Given the description of an element on the screen output the (x, y) to click on. 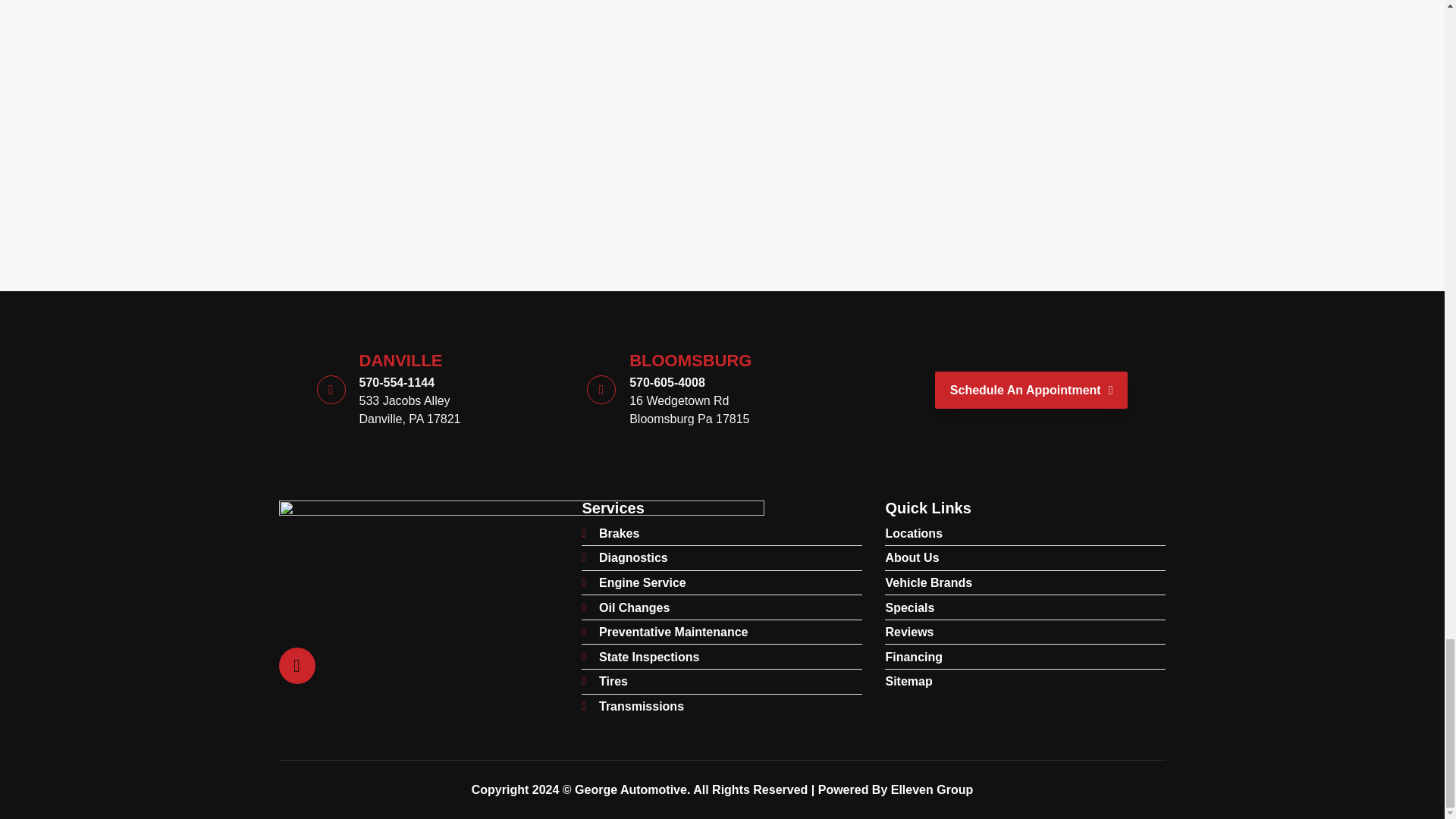
Services (720, 507)
Schedule An Appointment (668, 390)
Quick Links (389, 390)
